Given the description of an element on the screen output the (x, y) to click on. 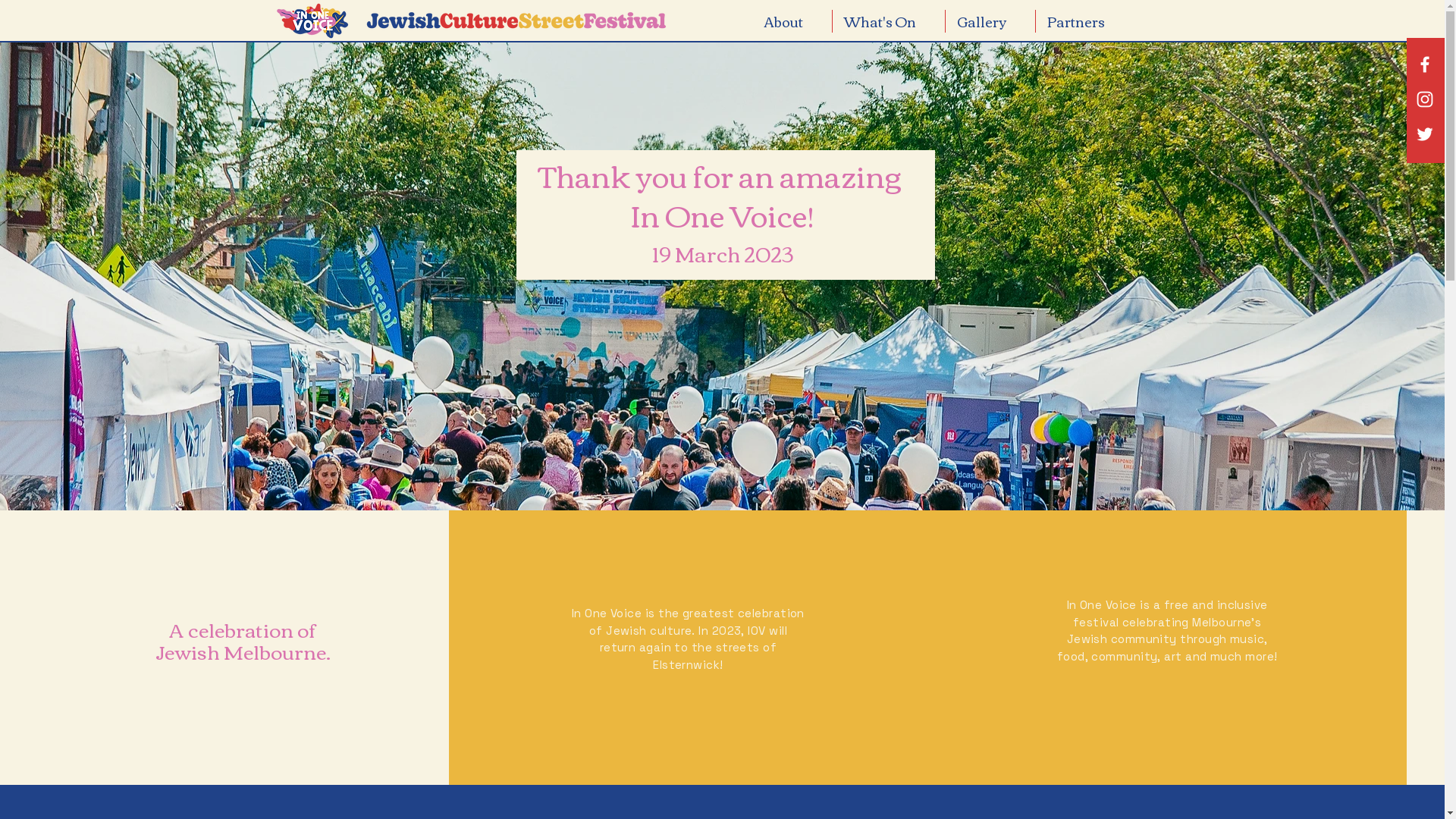
Partners Element type: text (1083, 20)
About Element type: text (791, 20)
Gallery Element type: text (989, 20)
